Given the description of an element on the screen output the (x, y) to click on. 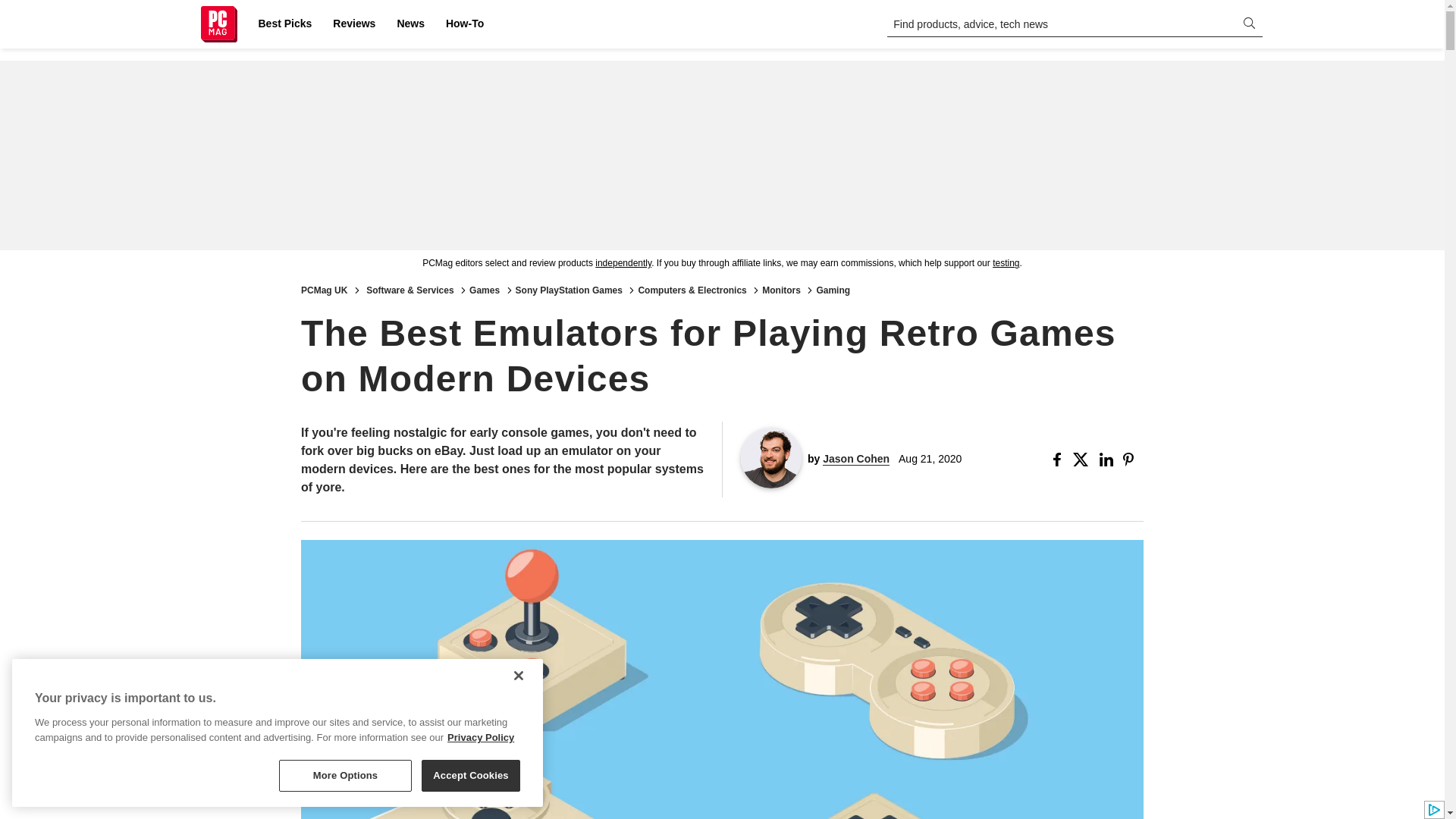
Best Picks (284, 24)
Share this Story on X (1083, 459)
Share this Story on Linkedin (1107, 459)
3rd party ad content (721, 155)
Share this Story on Pinterest (1132, 459)
Share this Story on Facebook (1059, 459)
